Given the description of an element on the screen output the (x, y) to click on. 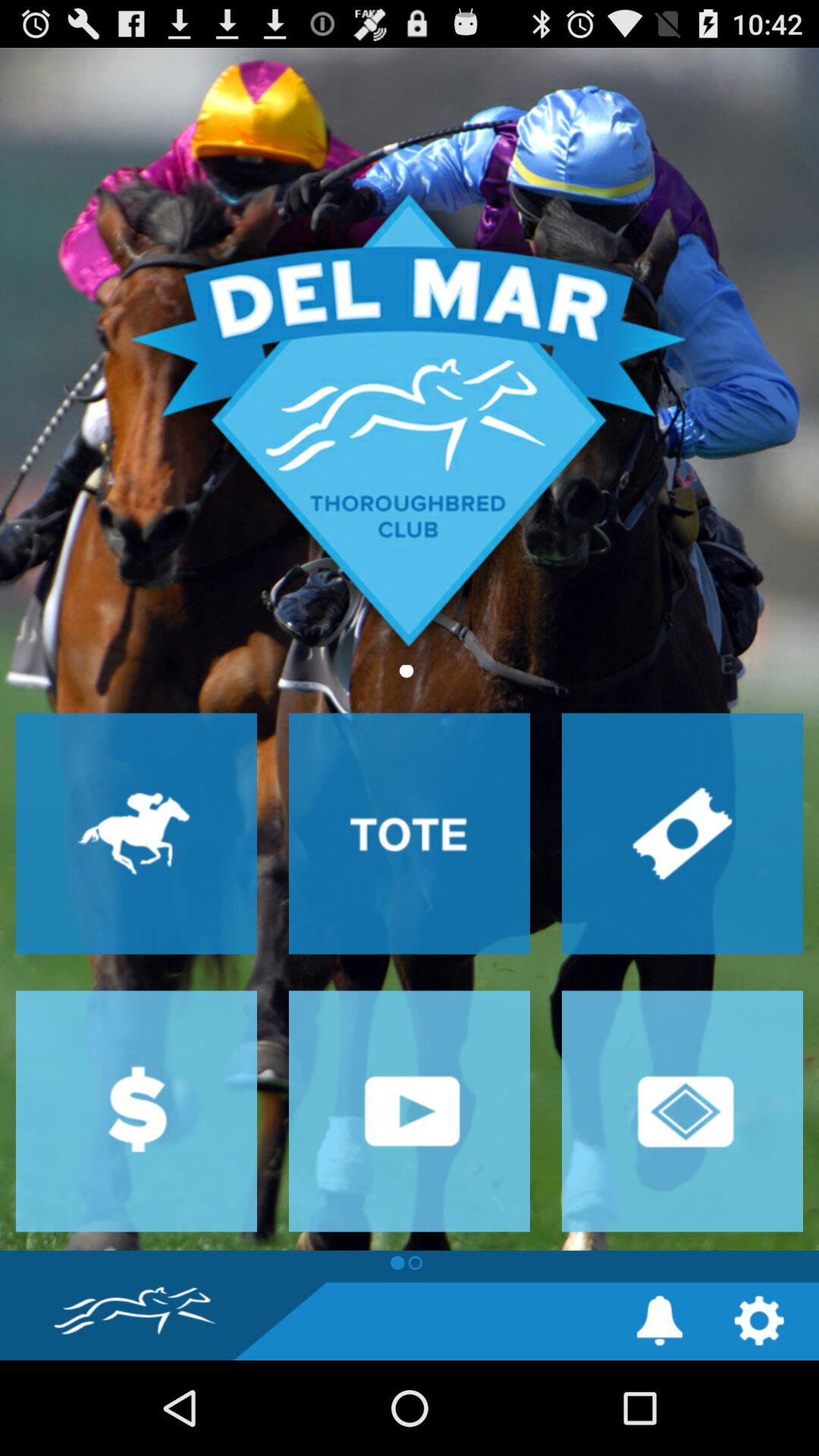
del mar thoroughbred app home page (409, 648)
